Given the description of an element on the screen output the (x, y) to click on. 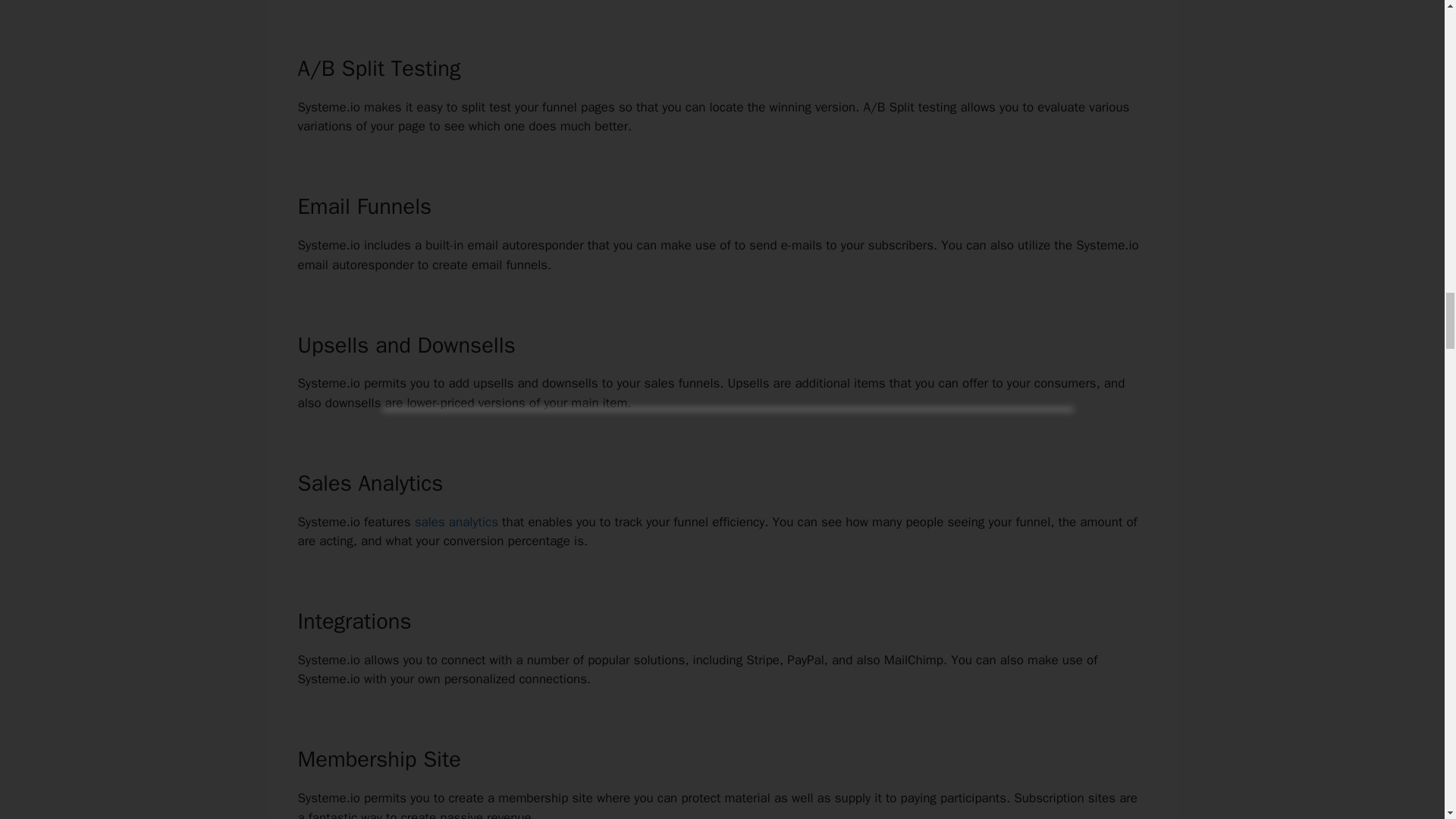
sales analytics (455, 521)
